Given the description of an element on the screen output the (x, y) to click on. 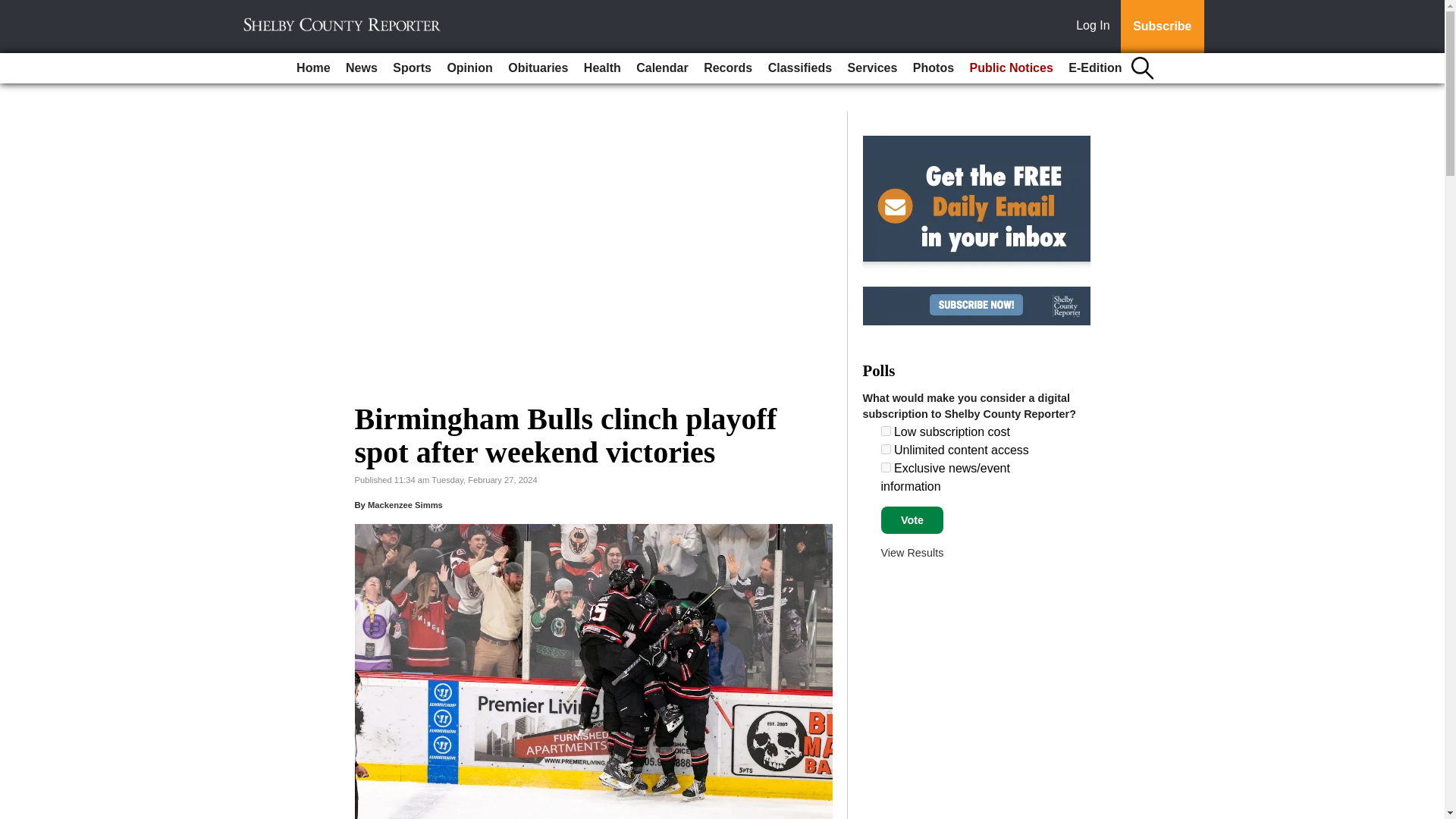
Classifieds (799, 68)
4638 (885, 467)
Home (312, 68)
News (361, 68)
Calendar (662, 68)
Subscribe (1162, 26)
Log In (1095, 26)
Services (872, 68)
Records (727, 68)
View Results Of This Poll (911, 552)
4637 (885, 449)
   Vote    (911, 519)
Sports (412, 68)
Obituaries (537, 68)
Health (602, 68)
